Given the description of an element on the screen output the (x, y) to click on. 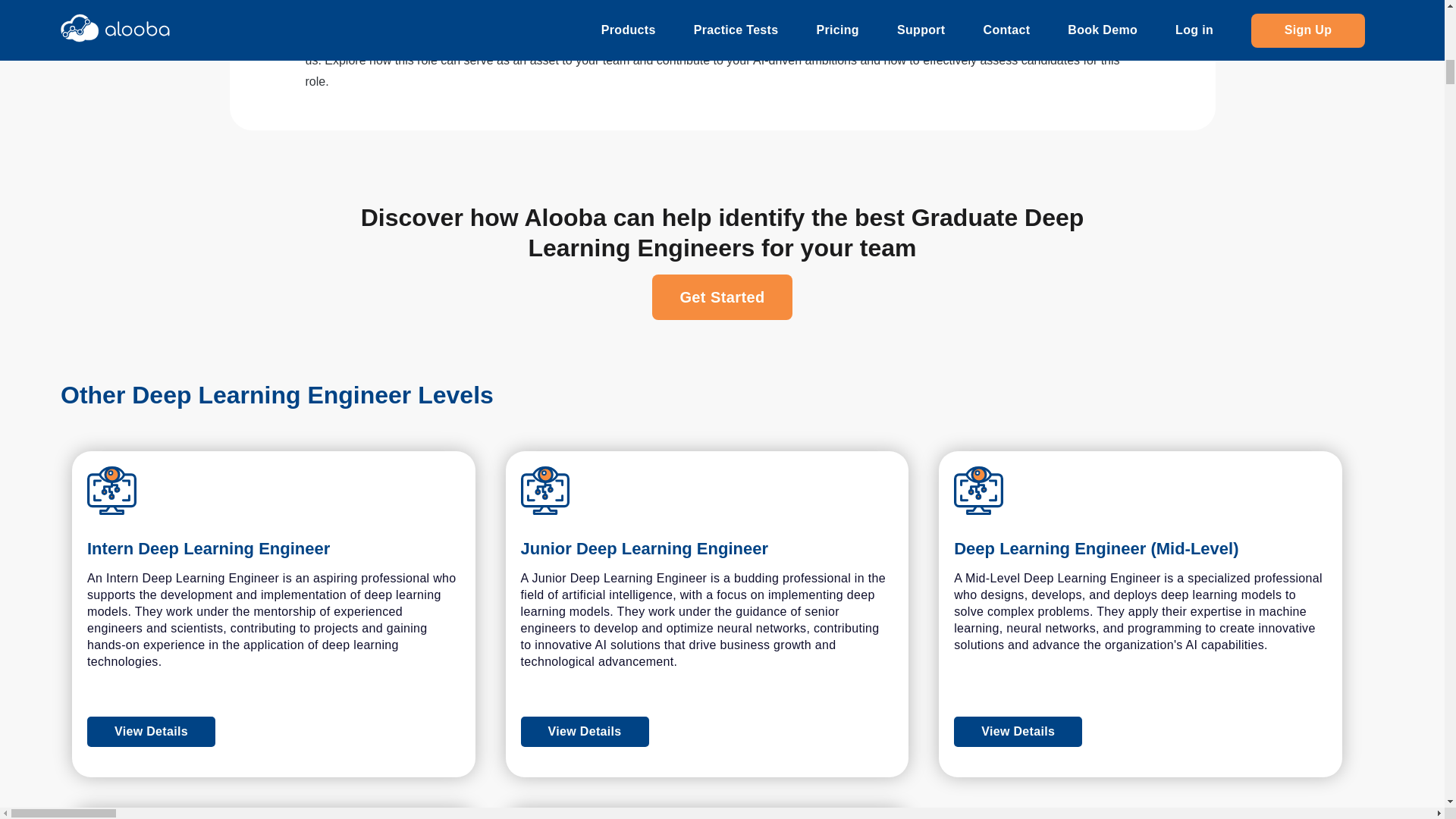
View Details (585, 731)
View Details (151, 731)
book a discovery call (1040, 38)
View Details (1017, 731)
Get Started (722, 297)
View Details (707, 731)
Get Started (722, 297)
View Details (1139, 731)
View Details (273, 731)
